Given the description of an element on the screen output the (x, y) to click on. 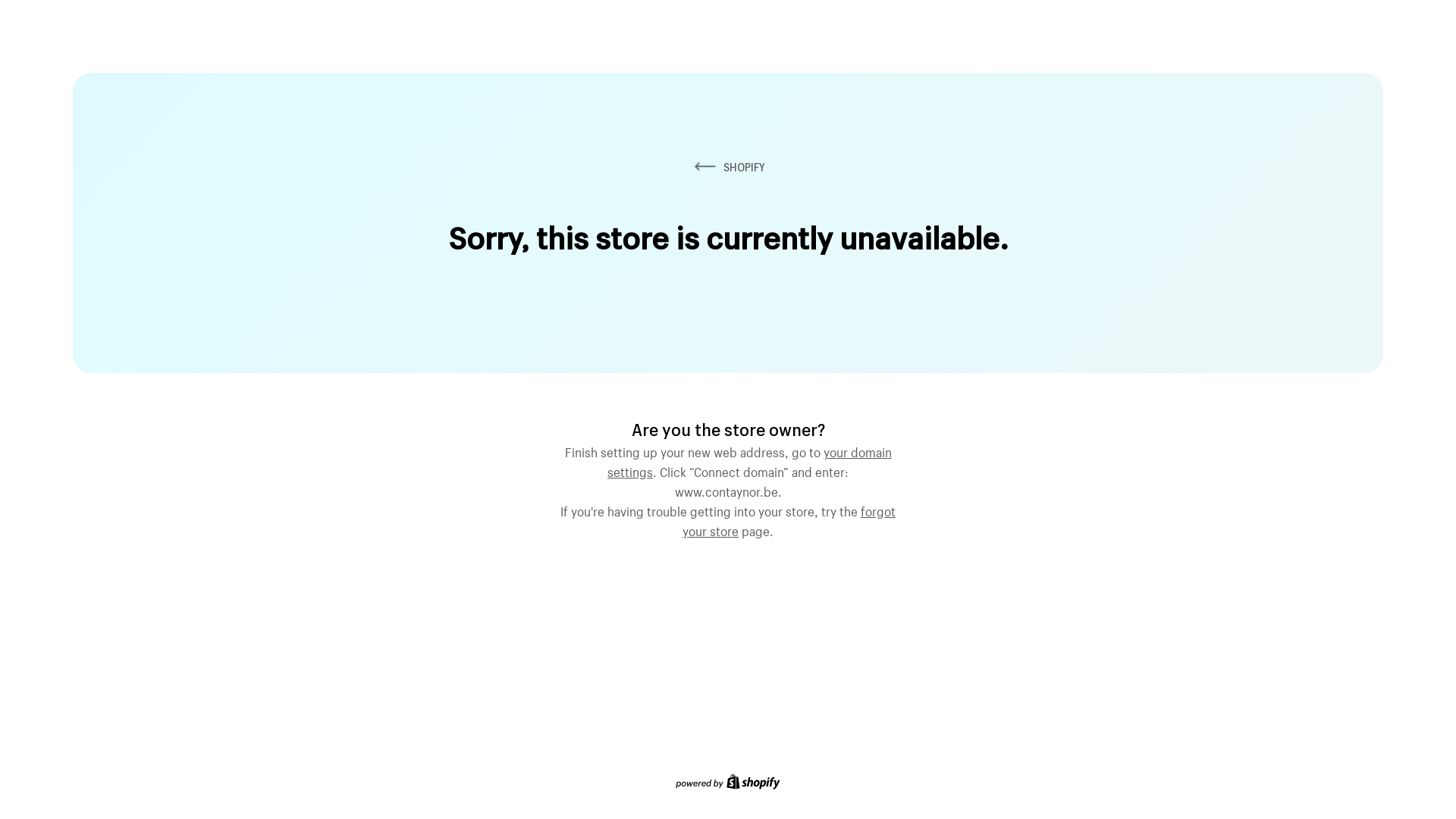
forgot your store Element type: text (788, 519)
SHOPIFY Element type: text (727, 167)
your domain settings Element type: text (749, 460)
